Given the description of an element on the screen output the (x, y) to click on. 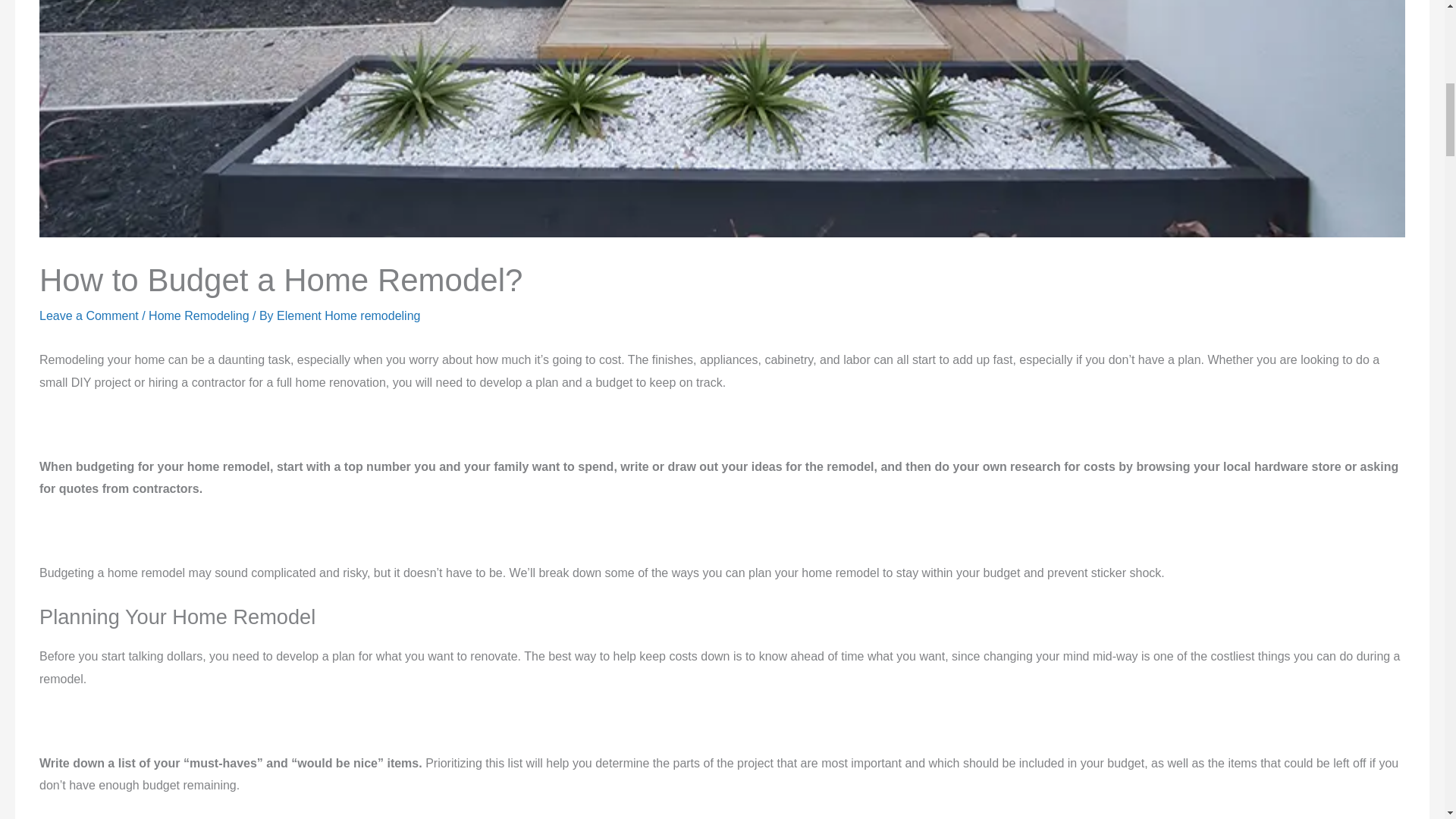
View all posts by Element Home remodeling (348, 315)
Home Remodeling (198, 315)
Element Home remodeling (348, 315)
Leave a Comment (88, 315)
